Given the description of an element on the screen output the (x, y) to click on. 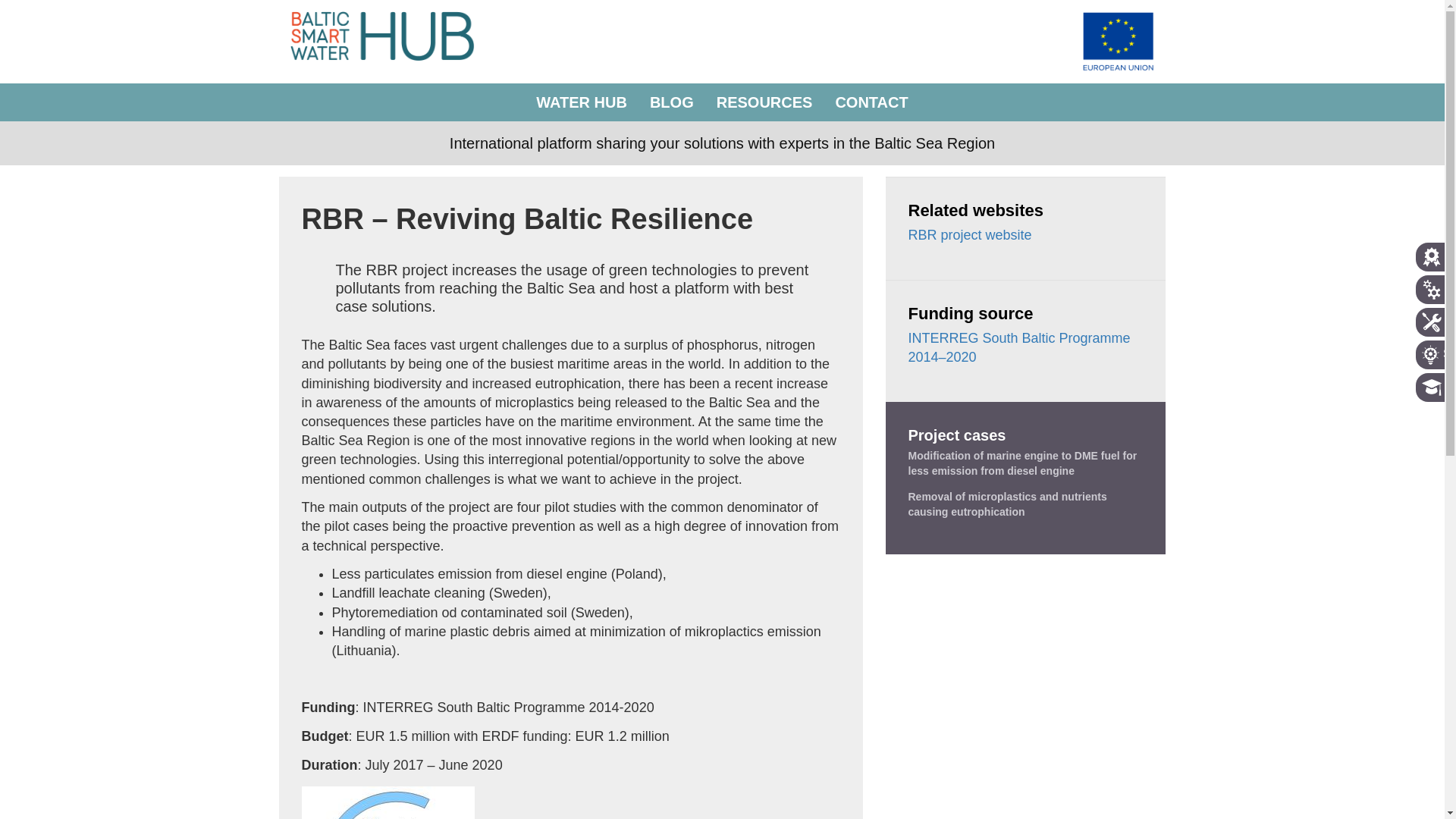
RBR project website (970, 234)
WATER HUB (581, 102)
CONTACT (871, 102)
RESOURCES (764, 102)
BLOG (671, 102)
